Given the description of an element on the screen output the (x, y) to click on. 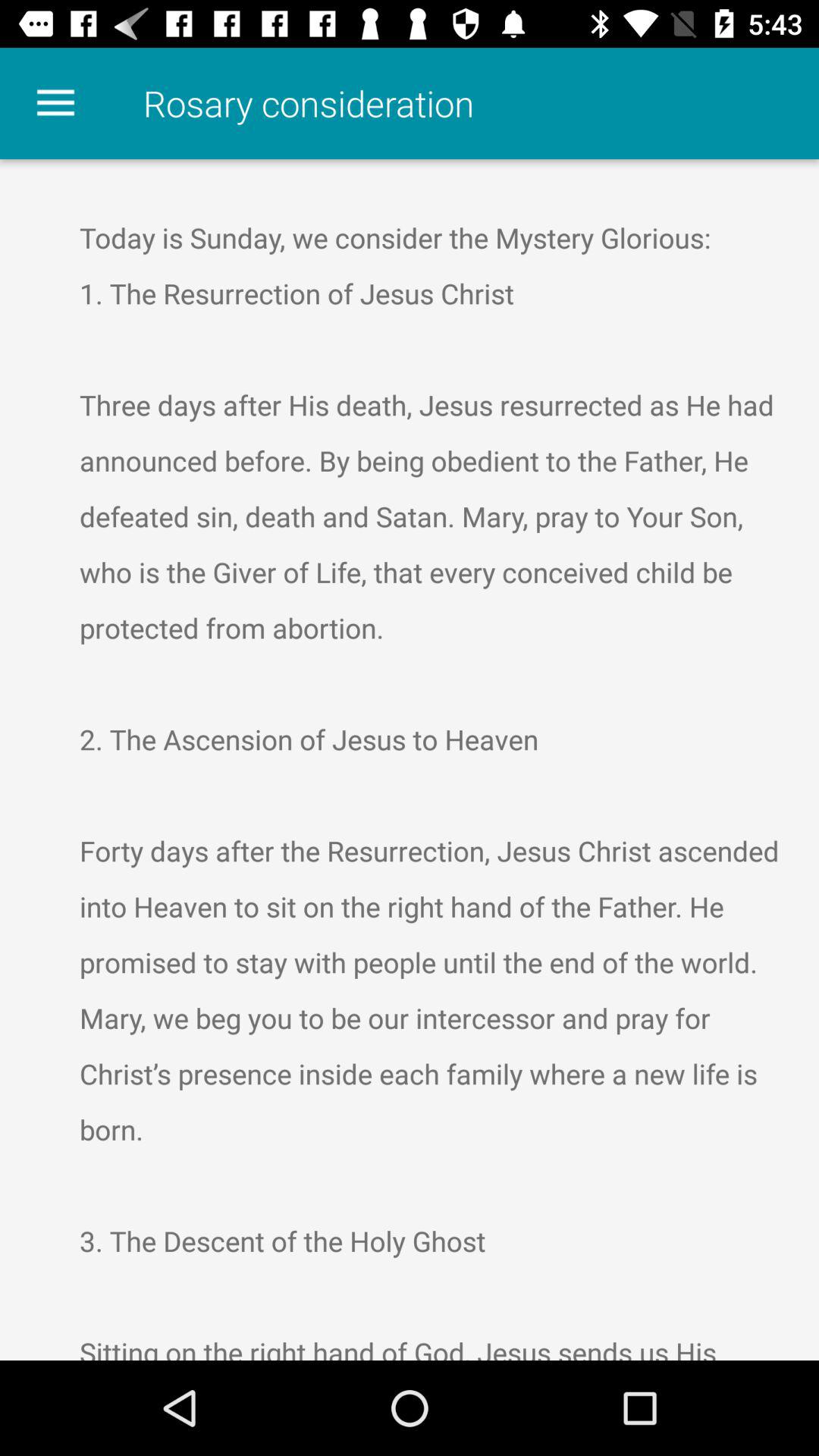
launch the item above the today is sunday item (55, 103)
